Given the description of an element on the screen output the (x, y) to click on. 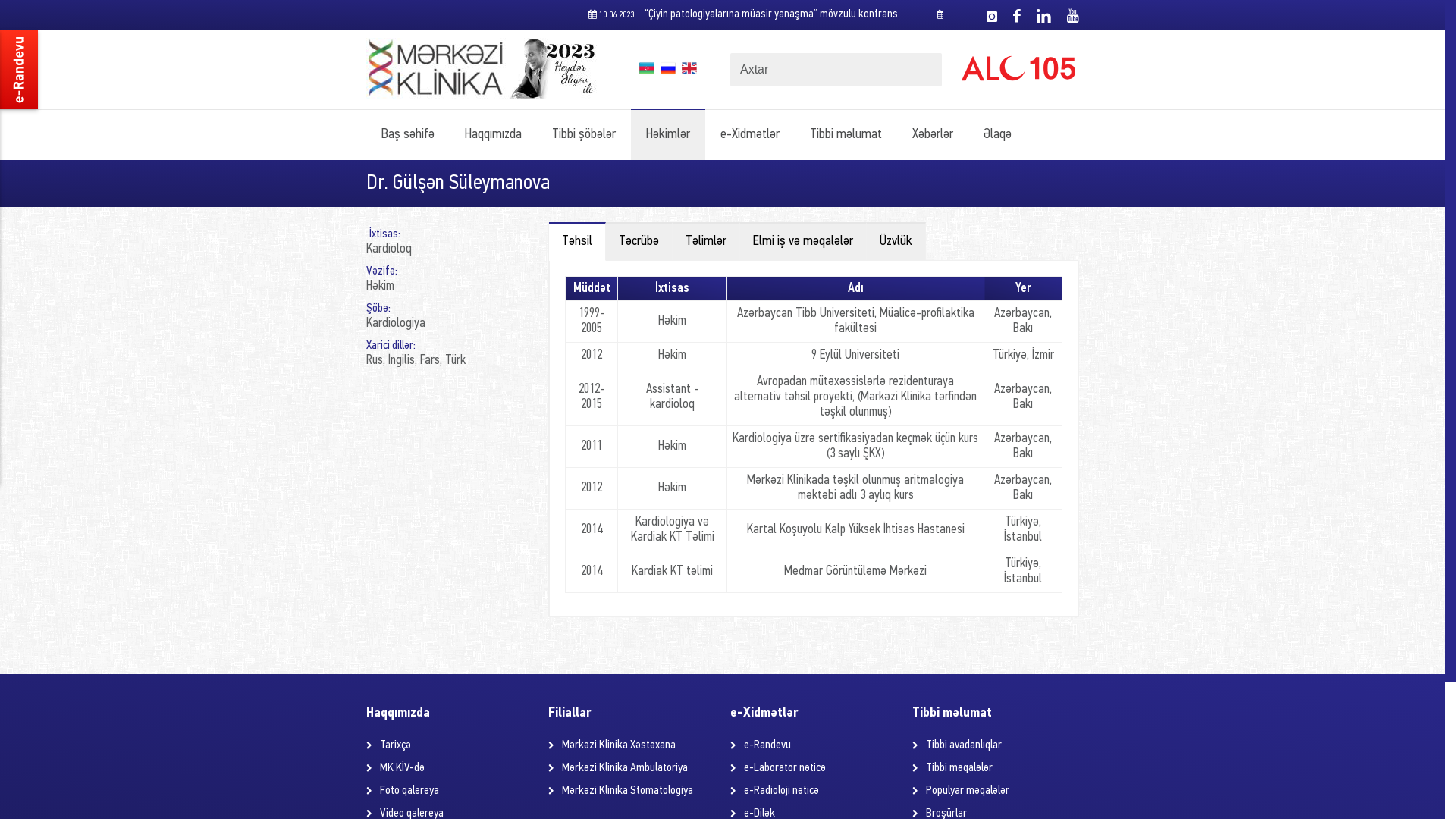
e-Randevu Element type: text (766, 745)
Kardiologiya Element type: text (395, 322)
Foto qalereya Element type: text (409, 790)
